Given the description of an element on the screen output the (x, y) to click on. 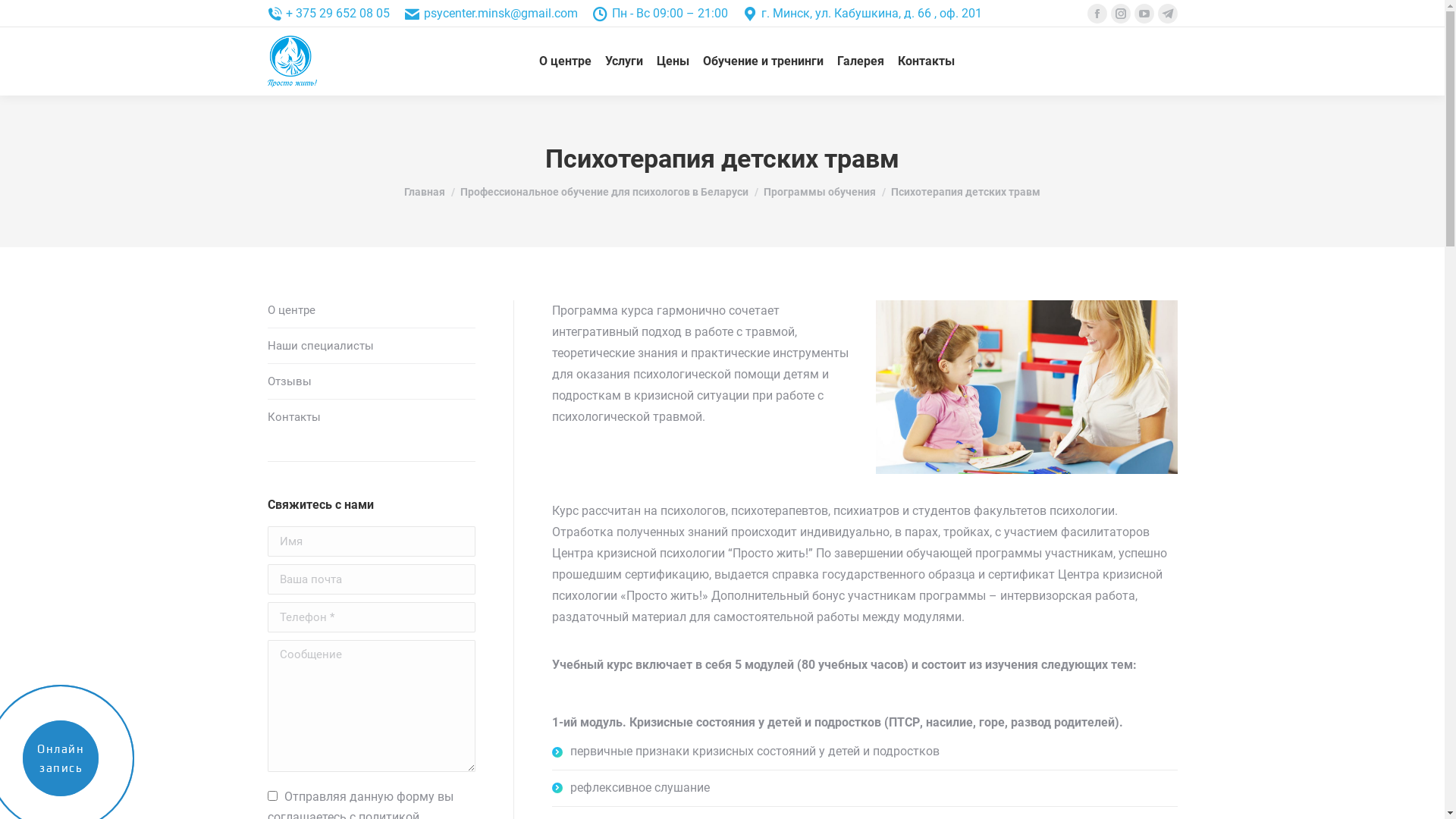
Telegram Element type: text (1166, 13)
Facebook Element type: text (1097, 13)
YouTube Element type: text (1144, 13)
psycenter.minsk@gmail.com Element type: text (490, 13)
Instagram Element type: text (1119, 13)
+ 375 29 652 08 05 Element type: text (327, 13)
